Given the description of an element on the screen output the (x, y) to click on. 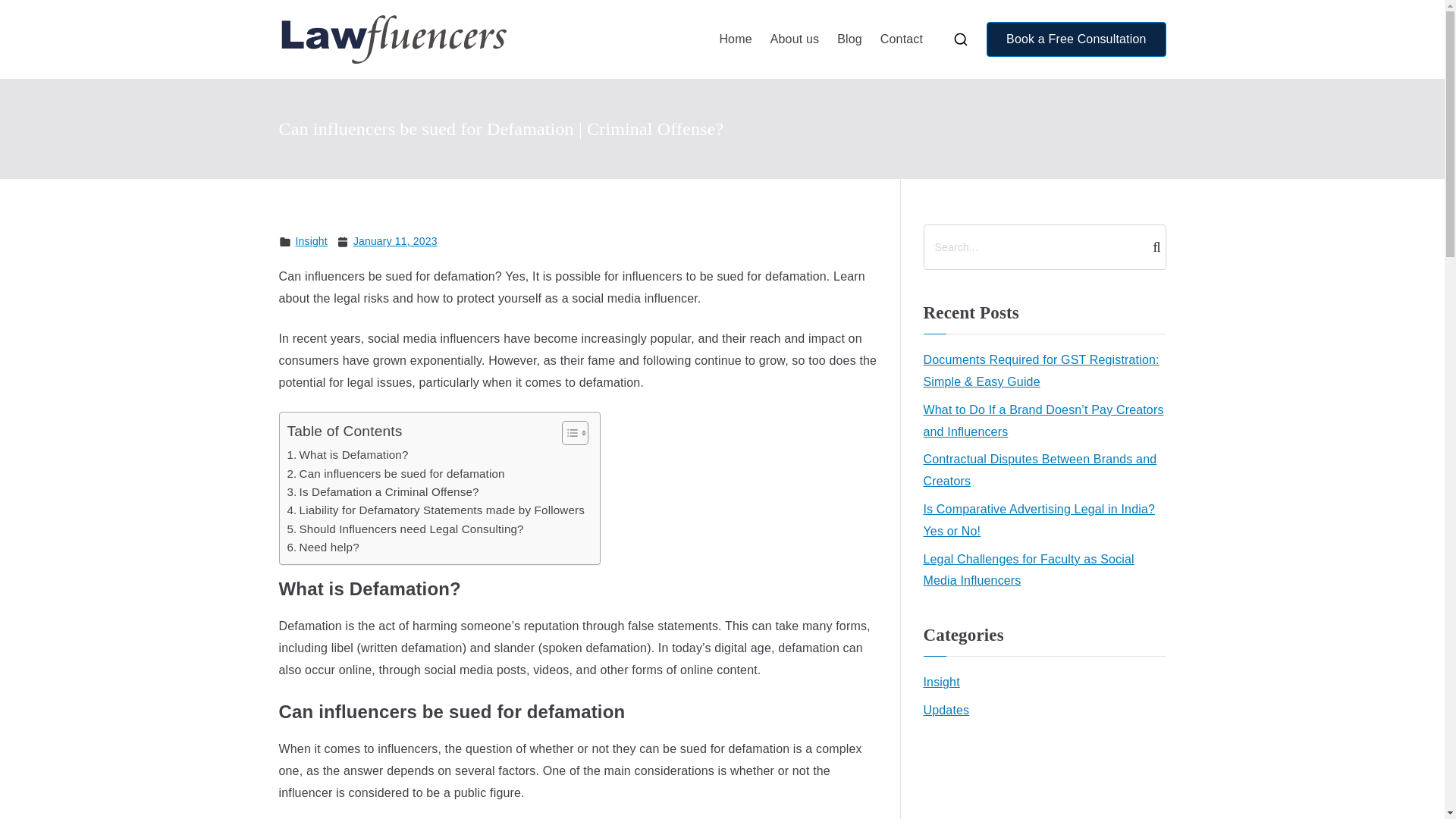
About us (794, 39)
Should Influencers need Legal Consulting? (404, 529)
Liability for Defamatory Statements made by Followers (435, 510)
Should Influencers need Legal Consulting? (404, 529)
Insight (311, 240)
Need help? (322, 547)
Blog (849, 39)
Can influencers be sued for defamation (394, 474)
Can influencers be sued for defamation (394, 474)
What is Defamation? (346, 454)
January 11, 2023 (395, 240)
Contact (901, 39)
Is Defamation a Criminal Offense? (382, 492)
Book a Free Consultation (1076, 39)
Home (735, 39)
